Given the description of an element on the screen output the (x, y) to click on. 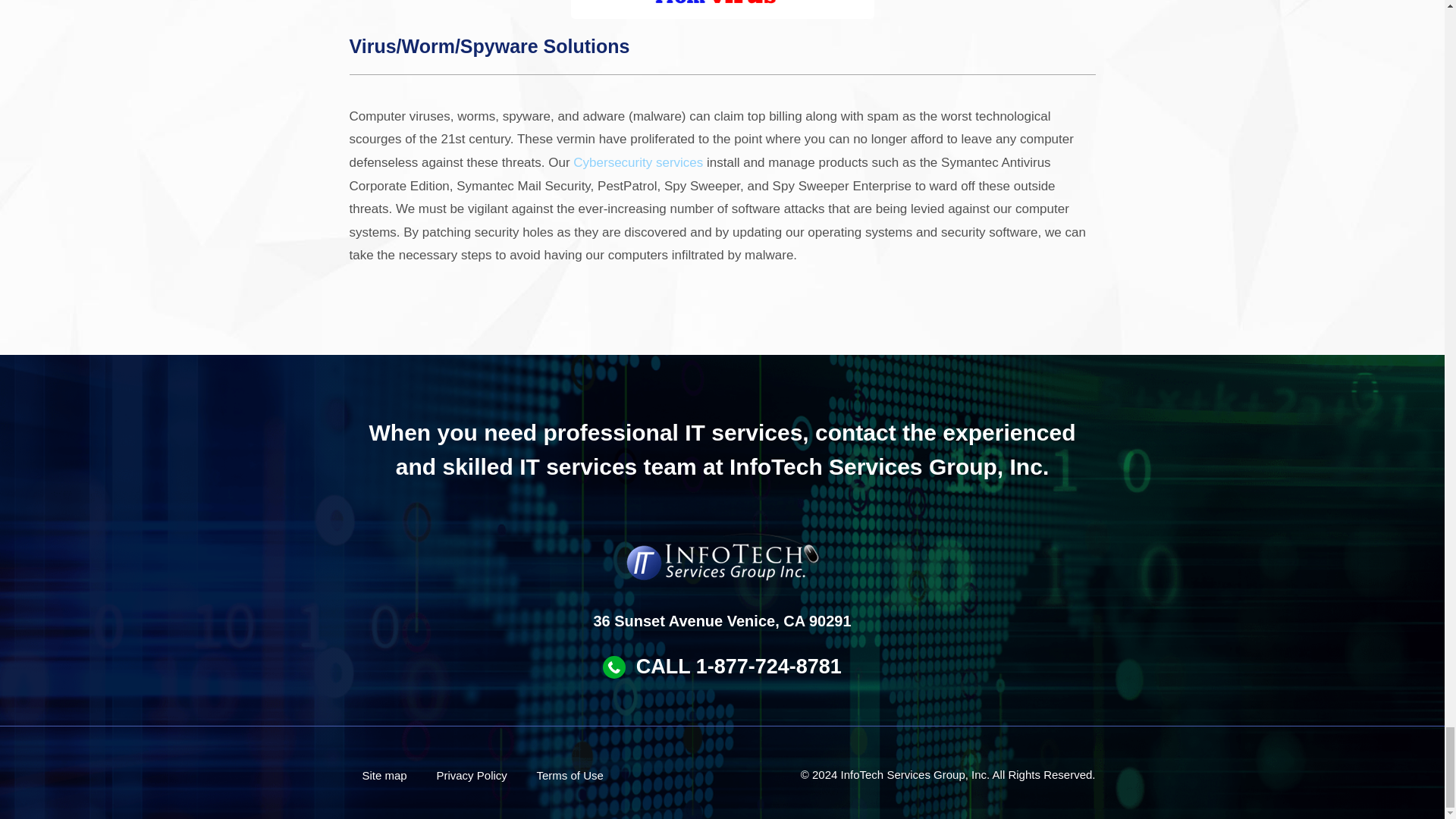
Cybersecurity services (638, 162)
